Given the description of an element on the screen output the (x, y) to click on. 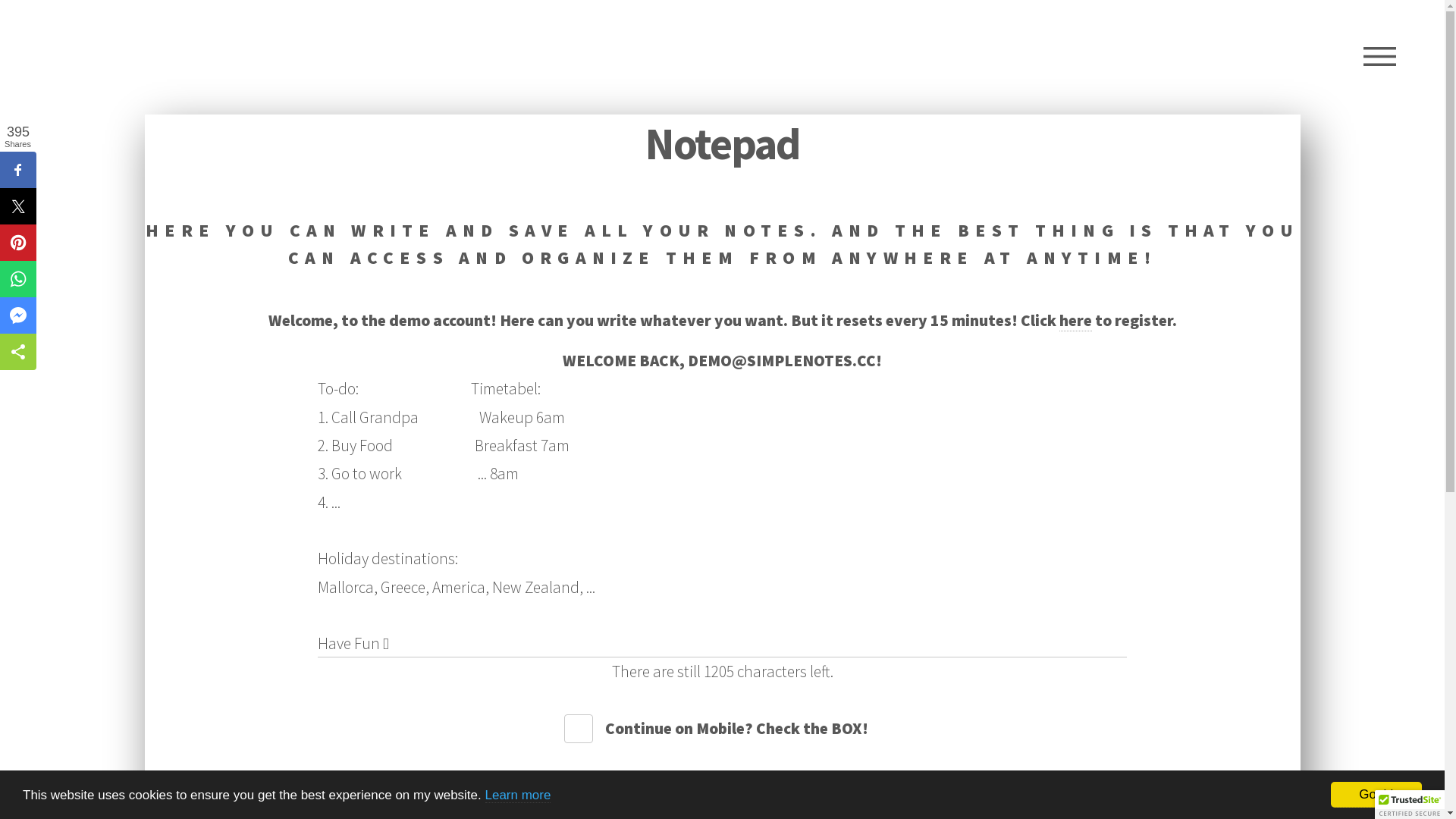
here Element type: text (1074, 320)
Got it! Element type: text (1375, 794)
MENU Element type: text (1379, 56)
Learn more Element type: text (518, 794)
